Given the description of an element on the screen output the (x, y) to click on. 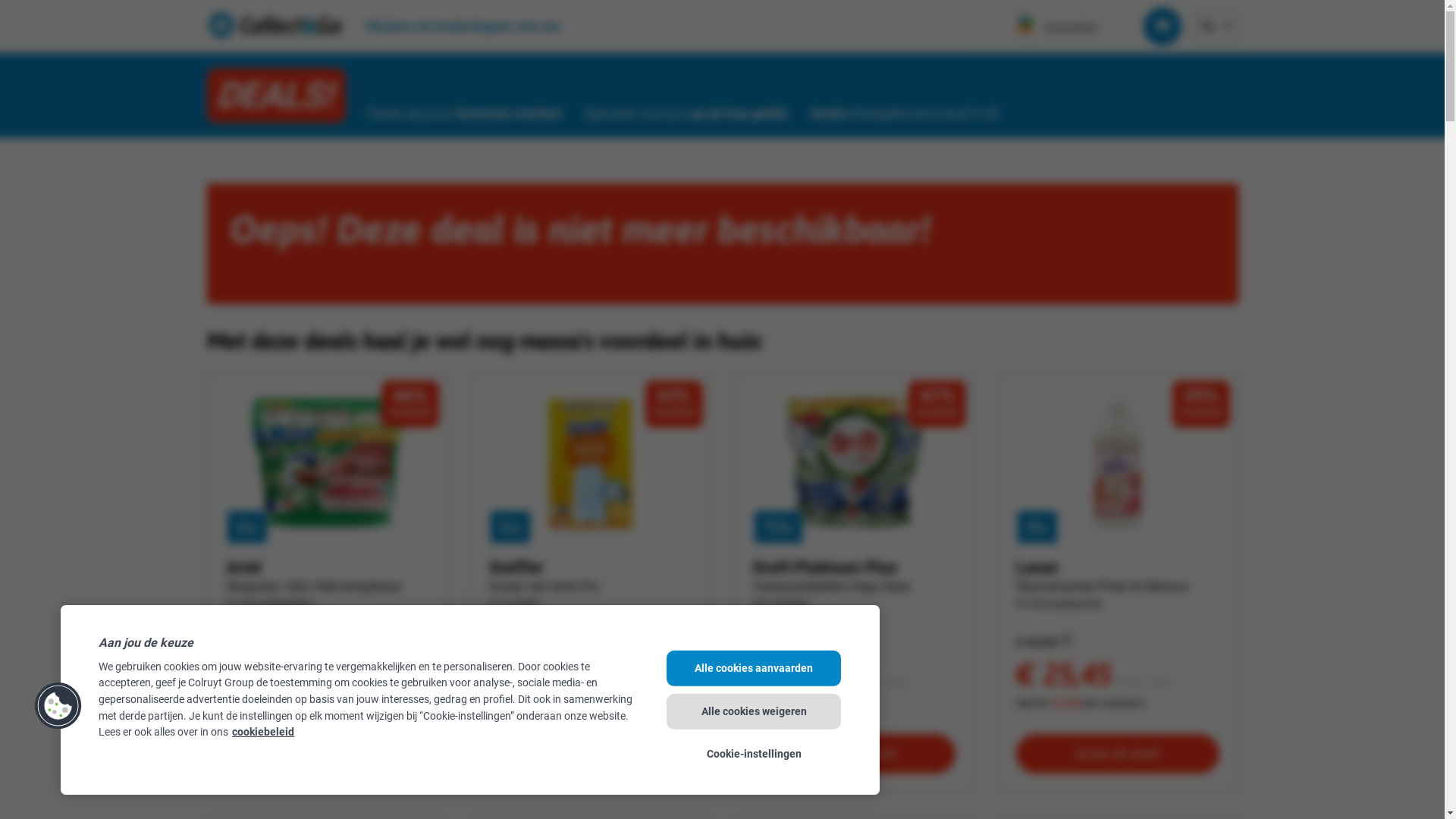
Scoor de deal! Element type: text (853, 753)
Alle cookies weigeren Element type: text (753, 710)
Cookies Button Element type: text (58, 704)
DEALS! Element type: text (275, 95)
Cookie-instellingen Element type: text (753, 753)
Alle cookies aanvaarden Element type: text (753, 668)
Uitverkocht Element type: text (590, 755)
NL Element type: text (1208, 24)
Scoor de deal! Element type: text (327, 753)
cookiebeleid Element type: text (263, 731)
Scoor de deal! Element type: text (1117, 753)
